Given the description of an element on the screen output the (x, y) to click on. 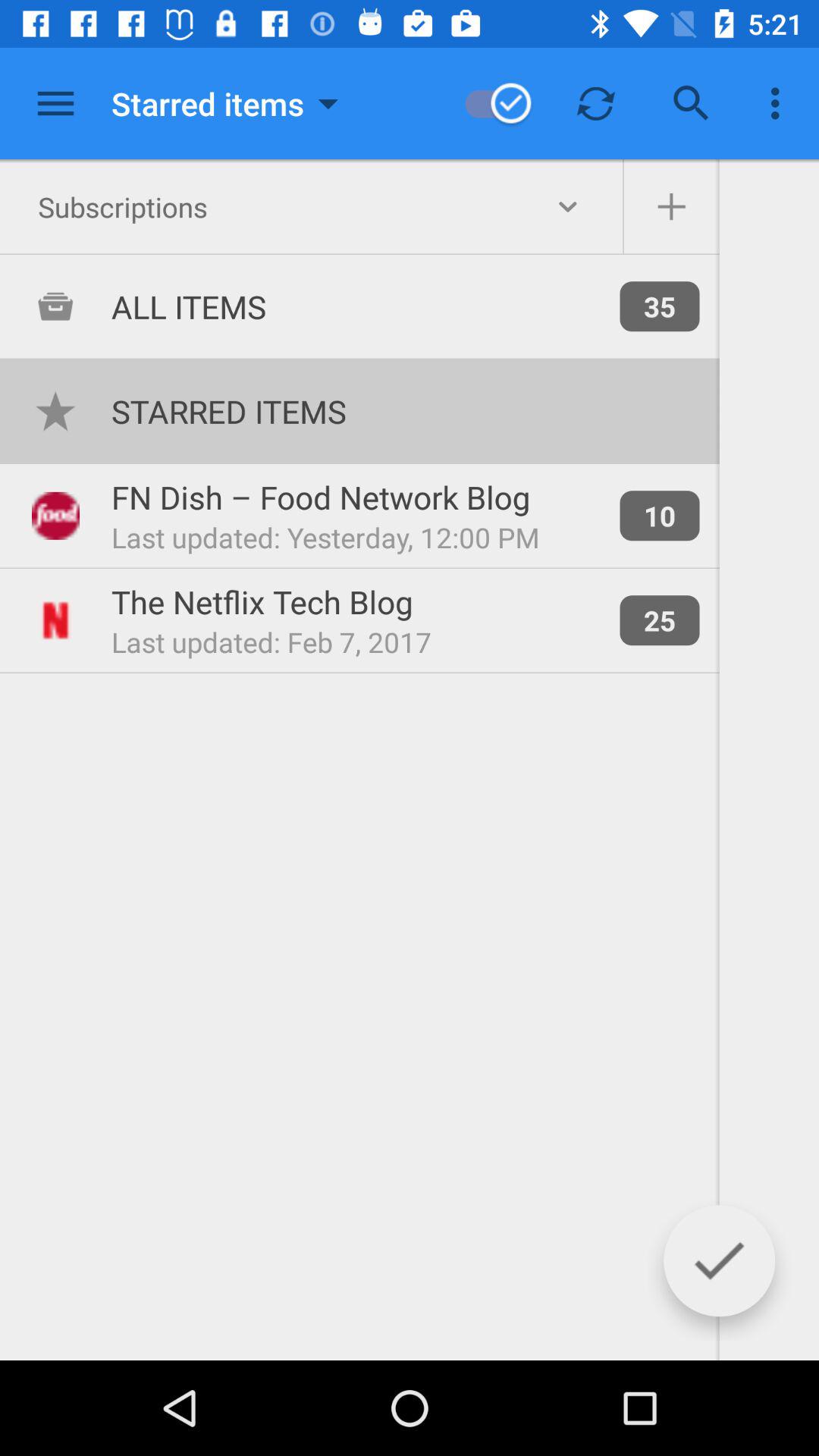
go to advertisement (671, 206)
